Given the description of an element on the screen output the (x, y) to click on. 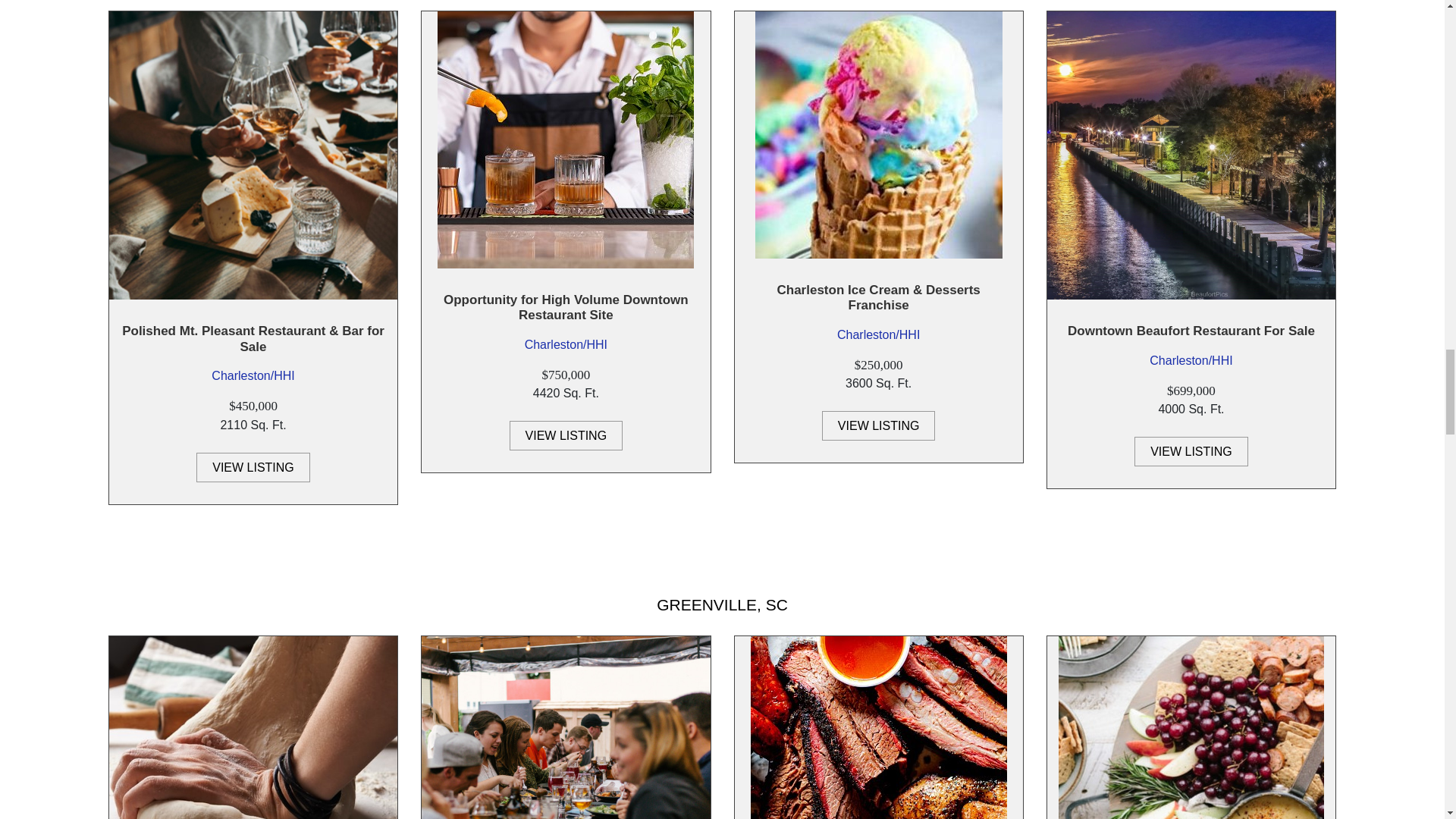
Unsplash.PizzaDough (253, 727)
Picture6 (253, 155)
Male bartender adding lemon peel in a drink with tongs (566, 139)
ice cream (879, 134)
Beaufort SC 2 (1190, 155)
